Given the description of an element on the screen output the (x, y) to click on. 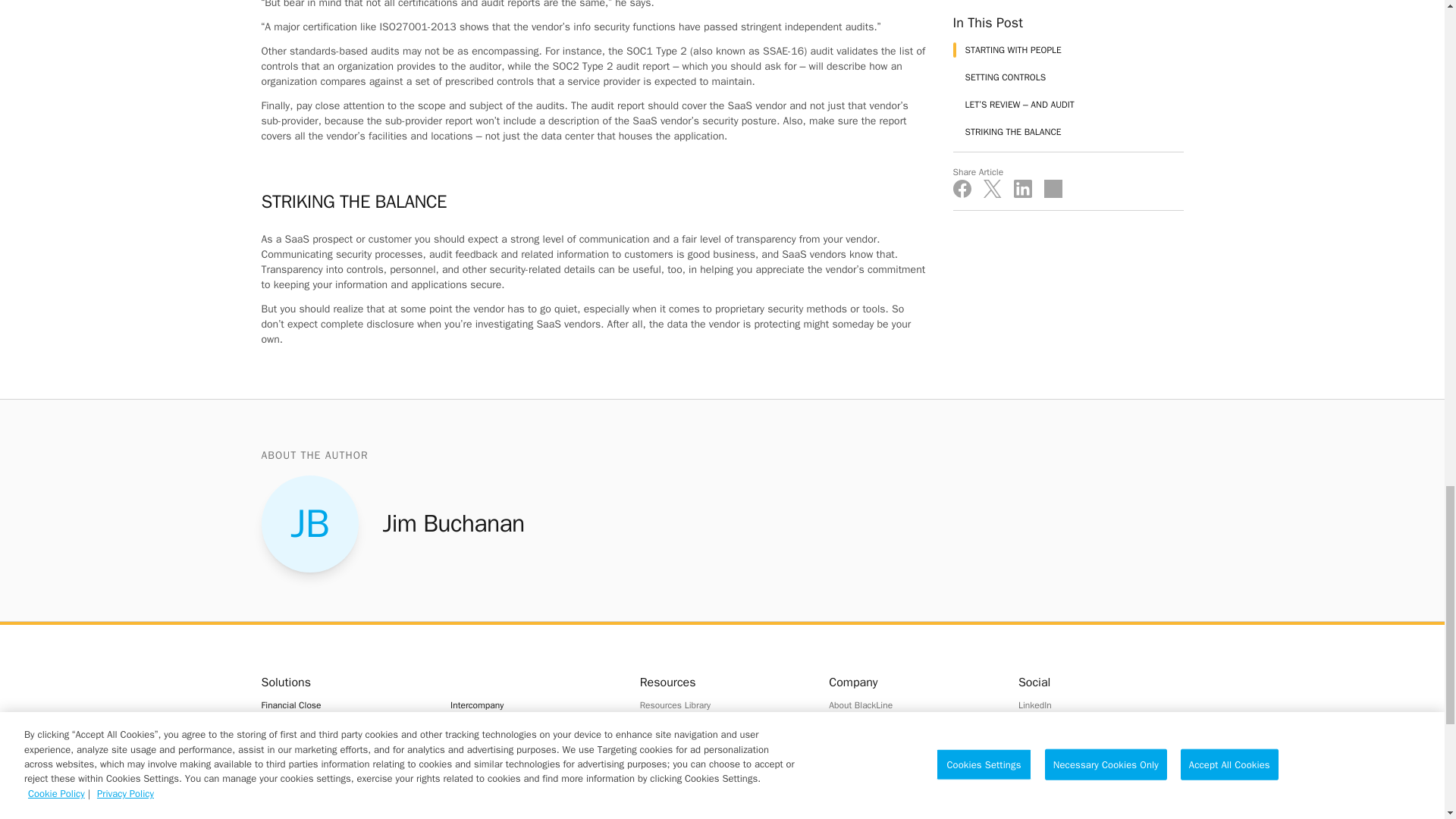
Account Reconciliations (343, 744)
Resources Library (722, 704)
Variance Analysis (532, 816)
Task Management (343, 798)
Financial Reporting Analytics (532, 801)
Smart Close (343, 780)
Transaction Matching (343, 814)
Account Analysis (343, 726)
Journal Entry (343, 762)
Intercompany Create (532, 726)
